Given the description of an element on the screen output the (x, y) to click on. 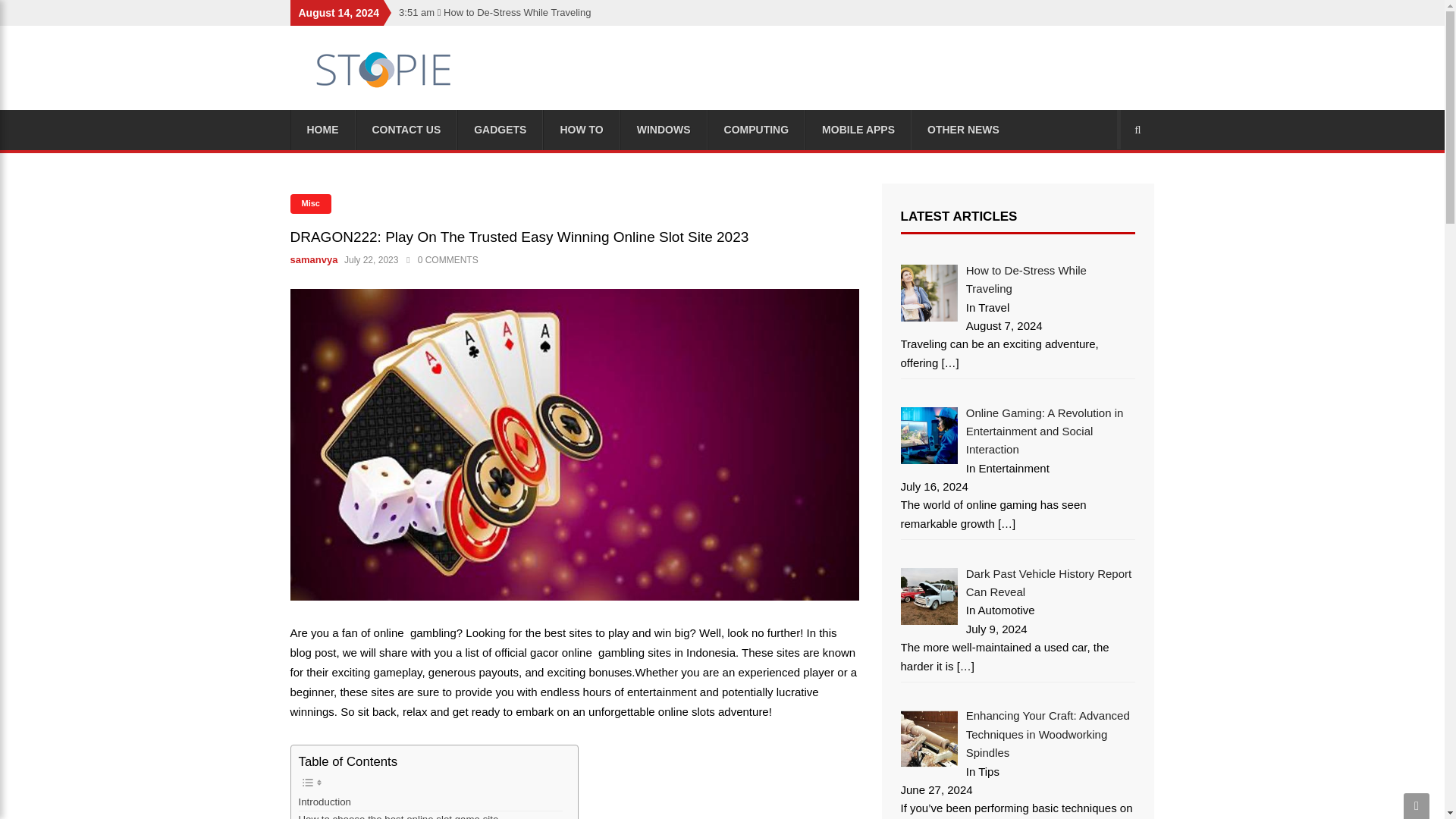
HOW TO (581, 129)
Posts by samanvya (314, 259)
GADGETS (500, 129)
CONTACT US (406, 129)
MOBILE APPS (858, 129)
Introduction  (325, 801)
COMPUTING (756, 129)
WINDOWS (663, 129)
0 COMMENTS (442, 259)
